Given the description of an element on the screen output the (x, y) to click on. 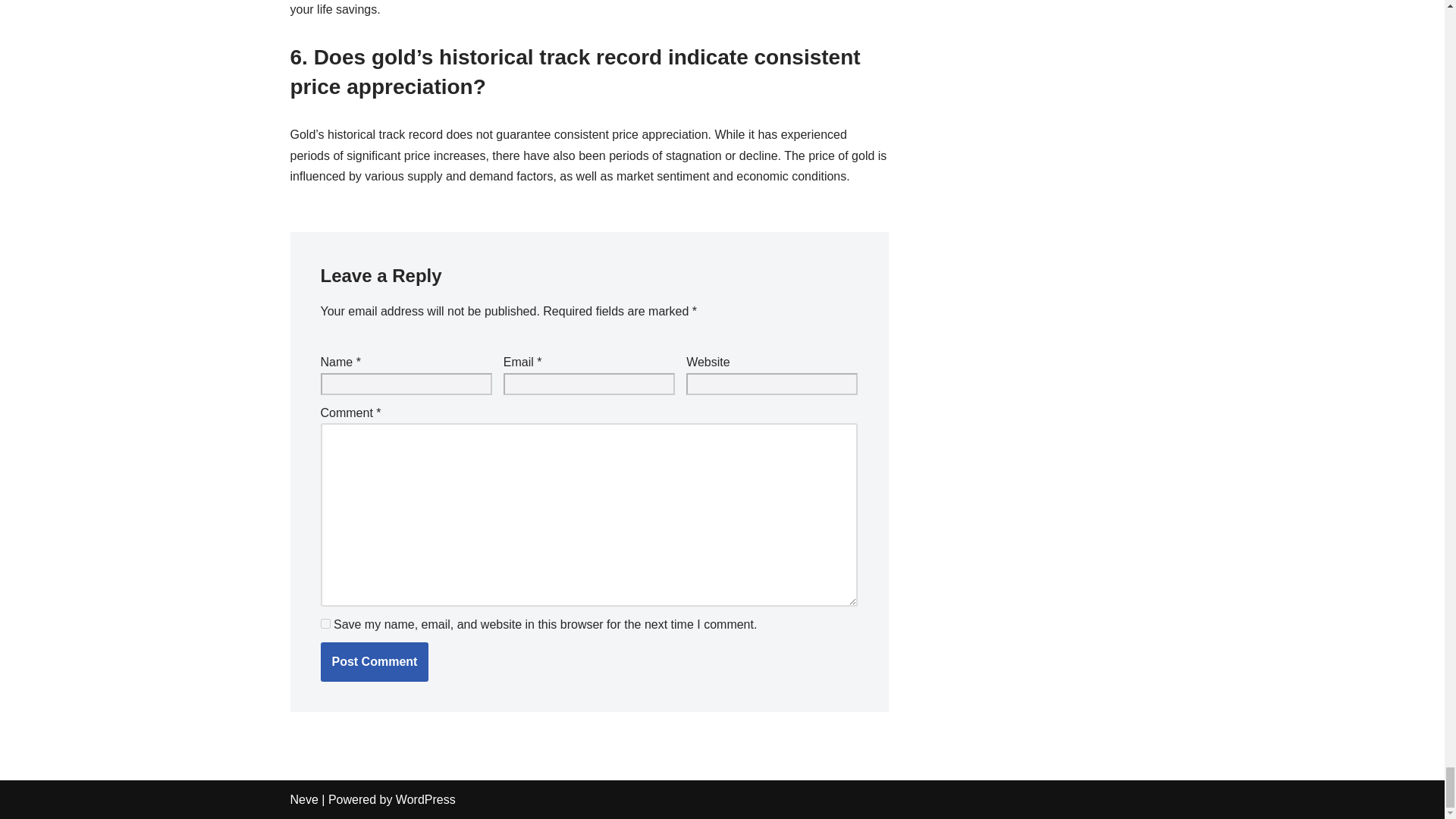
Post Comment (374, 661)
yes (325, 623)
Post Comment (374, 661)
Neve (303, 799)
WordPress (425, 799)
